Given the description of an element on the screen output the (x, y) to click on. 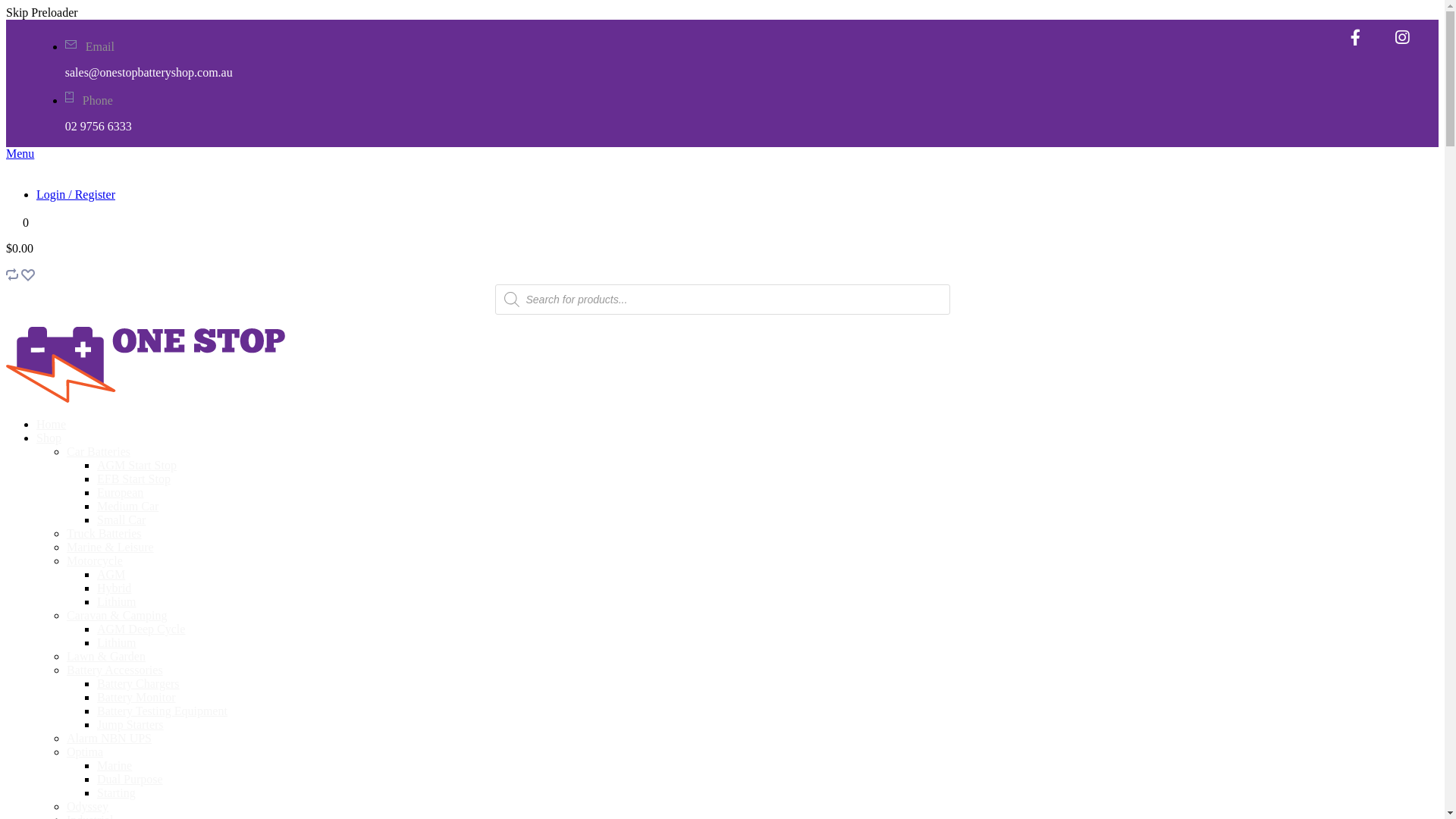
Marine Element type: text (114, 765)
Lithium Element type: text (116, 601)
Lithium Element type: text (116, 642)
Motorcycle Element type: text (94, 560)
Lawn & Garden Element type: text (105, 655)
Car Batteries Element type: text (98, 451)
Odyssey Element type: text (87, 806)
Skip Preloader Element type: text (722, 12)
AGM Deep Cycle Element type: text (141, 628)
Medium Car Element type: text (127, 505)
sales@onestopbatteryshop.com.au Element type: text (148, 71)
Marine & Leisure Element type: text (109, 546)
Menu Element type: text (20, 153)
Alarm NBN UPS Element type: text (108, 737)
Battery Chargers Element type: text (138, 683)
Hybrid Element type: text (114, 587)
Battery Accessories Element type: text (114, 669)
Battery Testing Equipment Element type: text (162, 710)
Wishlist Element type: hover (27, 276)
Jump Starters Element type: text (130, 724)
AGM Element type: text (111, 573)
Caravan & Camping Element type: text (116, 614)
Truck Batteries Element type: text (103, 533)
Starting Element type: text (116, 792)
Dual Purpose Element type: text (130, 778)
Battery Monitor Element type: text (136, 696)
Optima Element type: text (84, 751)
EFB Start Stop Element type: text (133, 478)
Compare Element type: hover (12, 276)
Login / Register Element type: text (75, 194)
European Element type: text (120, 492)
Home Element type: text (50, 423)
AGM Start Stop Element type: text (136, 464)
Small Car Element type: text (121, 519)
Shop Element type: text (48, 437)
02 9756 6333 Element type: text (98, 125)
